Given the description of an element on the screen output the (x, y) to click on. 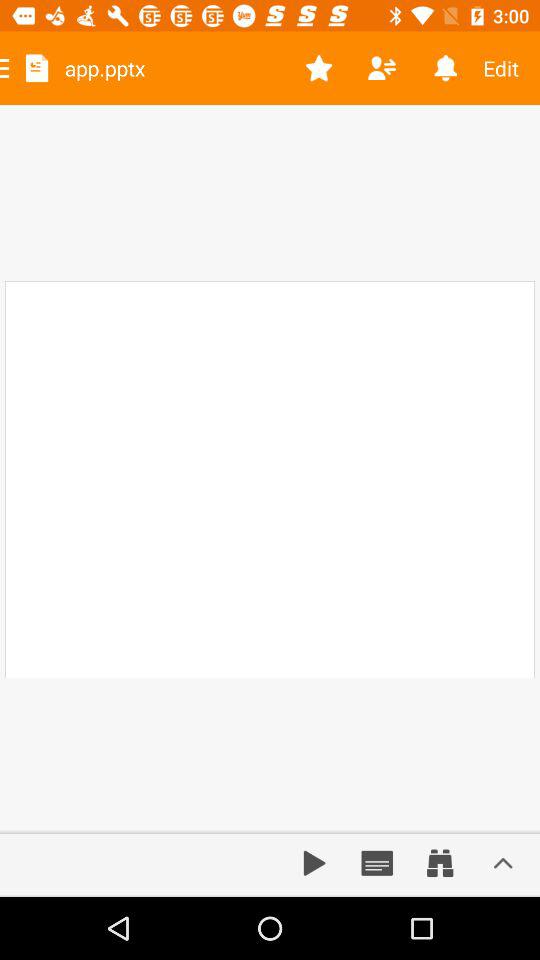
access additional editing options (503, 863)
